Given the description of an element on the screen output the (x, y) to click on. 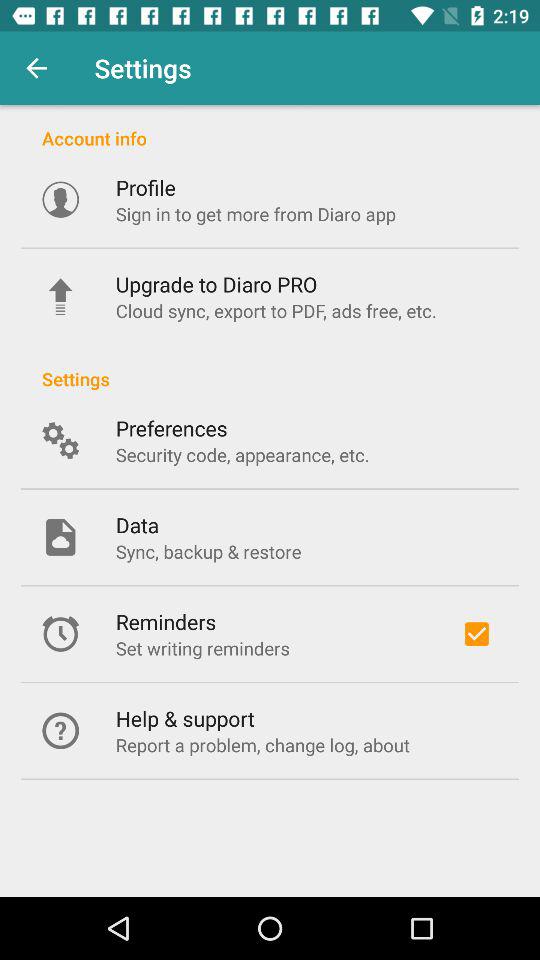
turn on the icon below help & support item (262, 744)
